Given the description of an element on the screen output the (x, y) to click on. 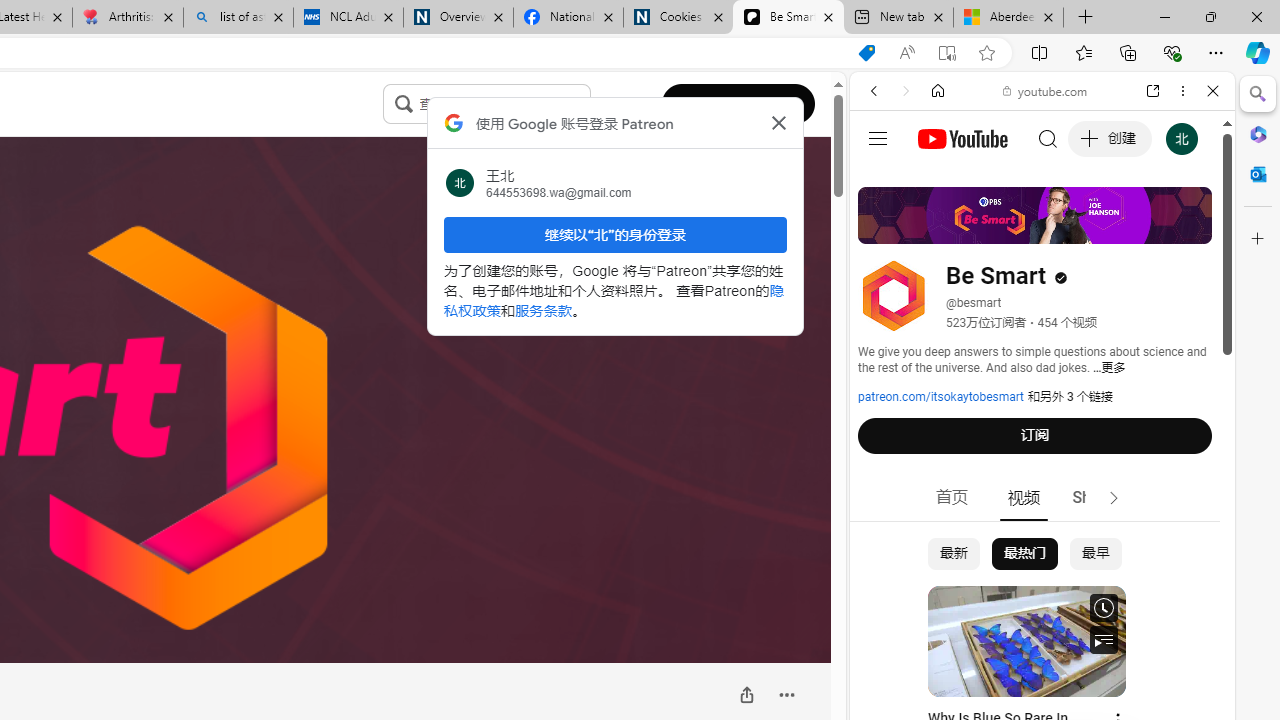
patreon.com/itsokaytobesmart (941, 397)
Class: Bz112c Bz112c-r9oPif (778, 122)
Class: style-scope tp-yt-iron-icon (1114, 498)
